Given the description of an element on the screen output the (x, y) to click on. 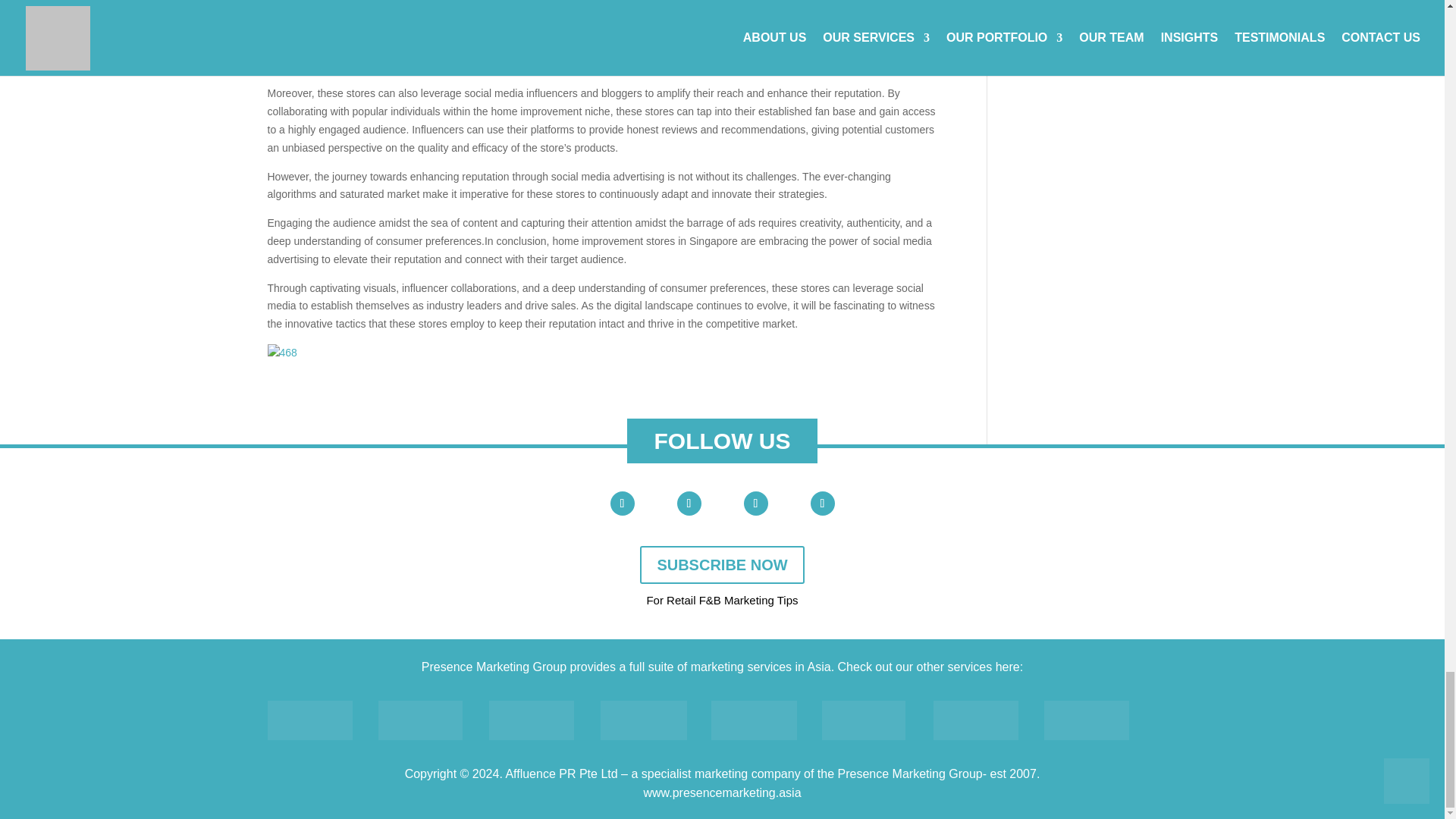
Confluence PR (531, 720)
Potence PR (863, 720)
Eminence Event (753, 720)
Follow on LinkedIn (754, 503)
Decadence Design (643, 720)
Ambience PR (420, 720)
Affluence PR (309, 720)
Follow on Youtube (621, 503)
Follow on Facebook (688, 503)
Follow on Instagram (821, 503)
